Given the description of an element on the screen output the (x, y) to click on. 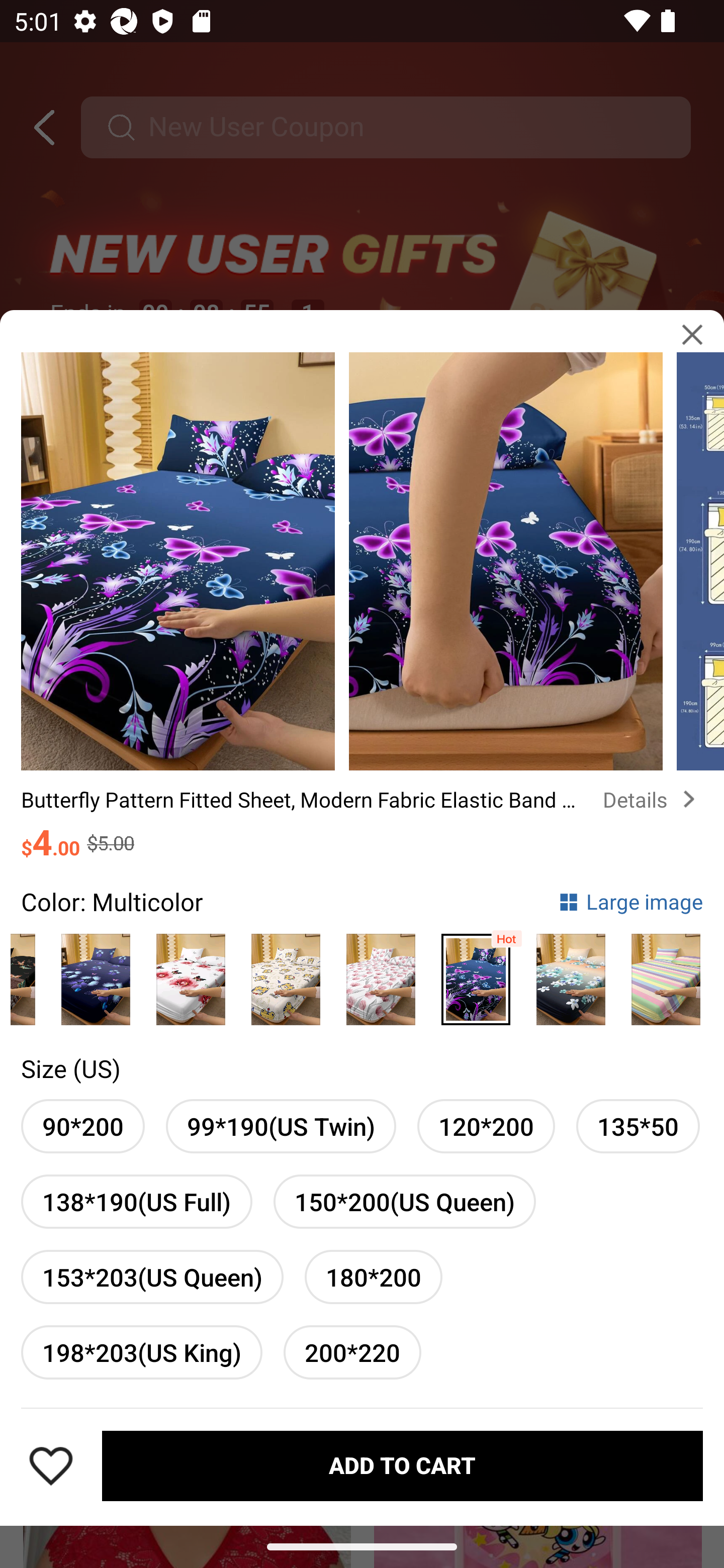
Details (653, 799)
Color: Multicolor (111, 901)
Large image (630, 901)
Multicolor (95, 974)
Multicolor (190, 974)
Multicolor (285, 974)
Multicolor (380, 974)
Multicolor (475, 974)
Multicolor (570, 974)
Multicolor (665, 974)
Size (US) (70, 1068)
90*200 90*200unselected option (82, 1126)
99*190(US Twin) 99*190(US Twin)unselected option (280, 1126)
120*200 120*200unselected option (486, 1126)
135*50 135*50unselected option (638, 1126)
138*190(US Full) 138*190(US Full)unselected option (136, 1201)
180*200 180*200unselected option (373, 1276)
198*203(US King) 198*203(US King)unselected option (141, 1351)
200*220 200*220unselected option (352, 1351)
ADD TO CART (402, 1465)
Save (50, 1465)
